Given the description of an element on the screen output the (x, y) to click on. 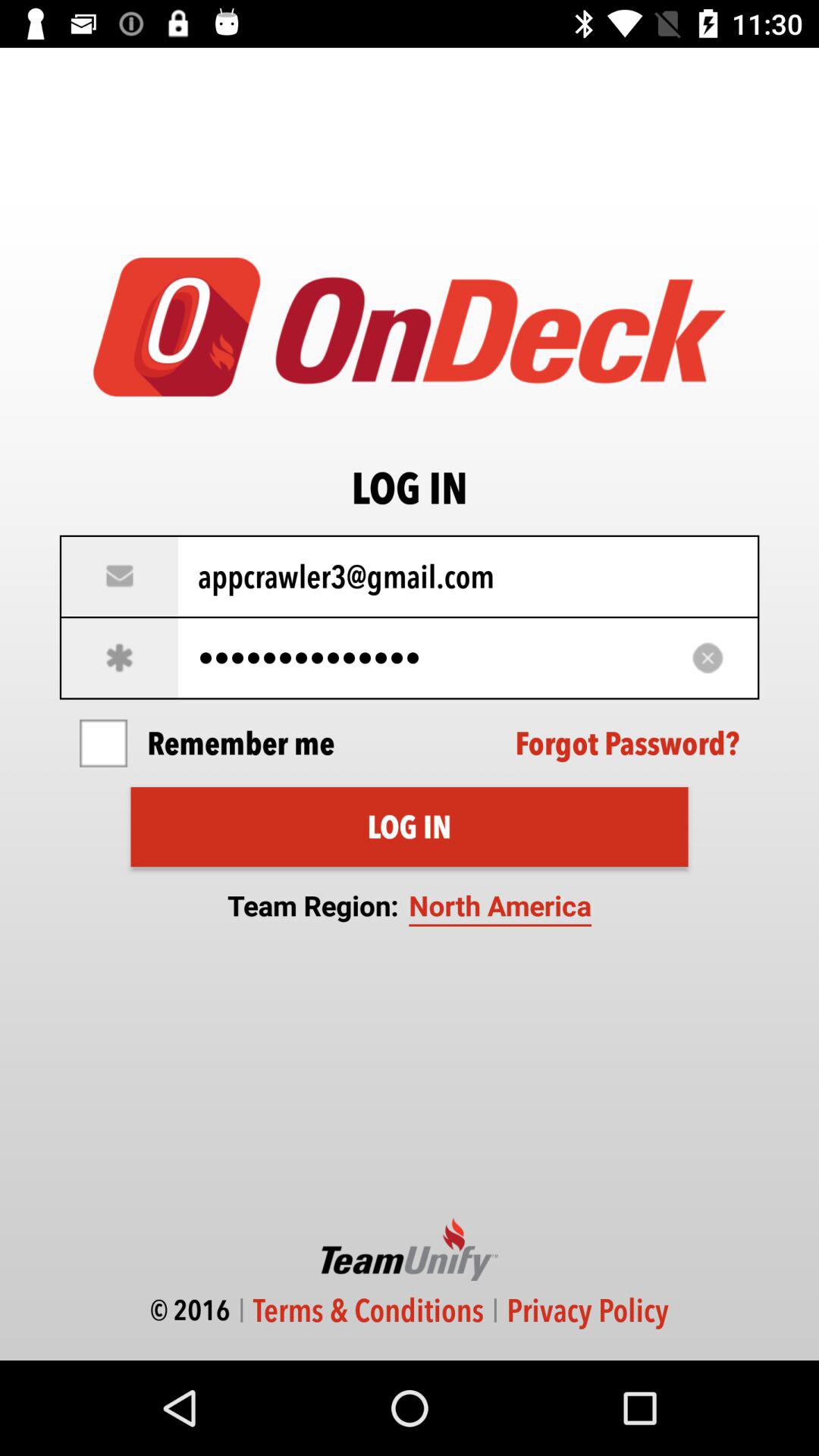
click the item on the left (103, 743)
